Given the description of an element on the screen output the (x, y) to click on. 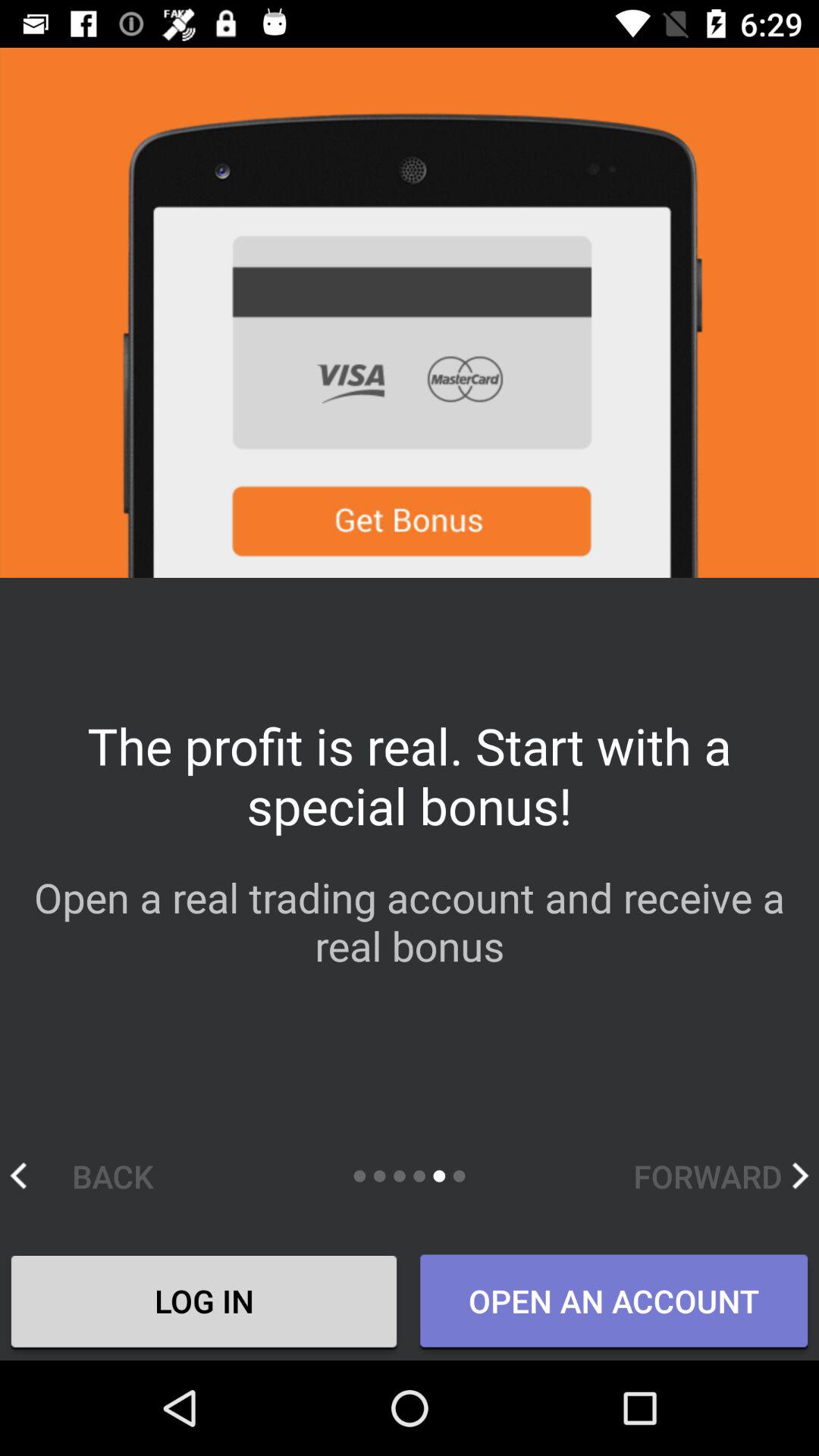
launch icon above the open an account icon (720, 1175)
